Given the description of an element on the screen output the (x, y) to click on. 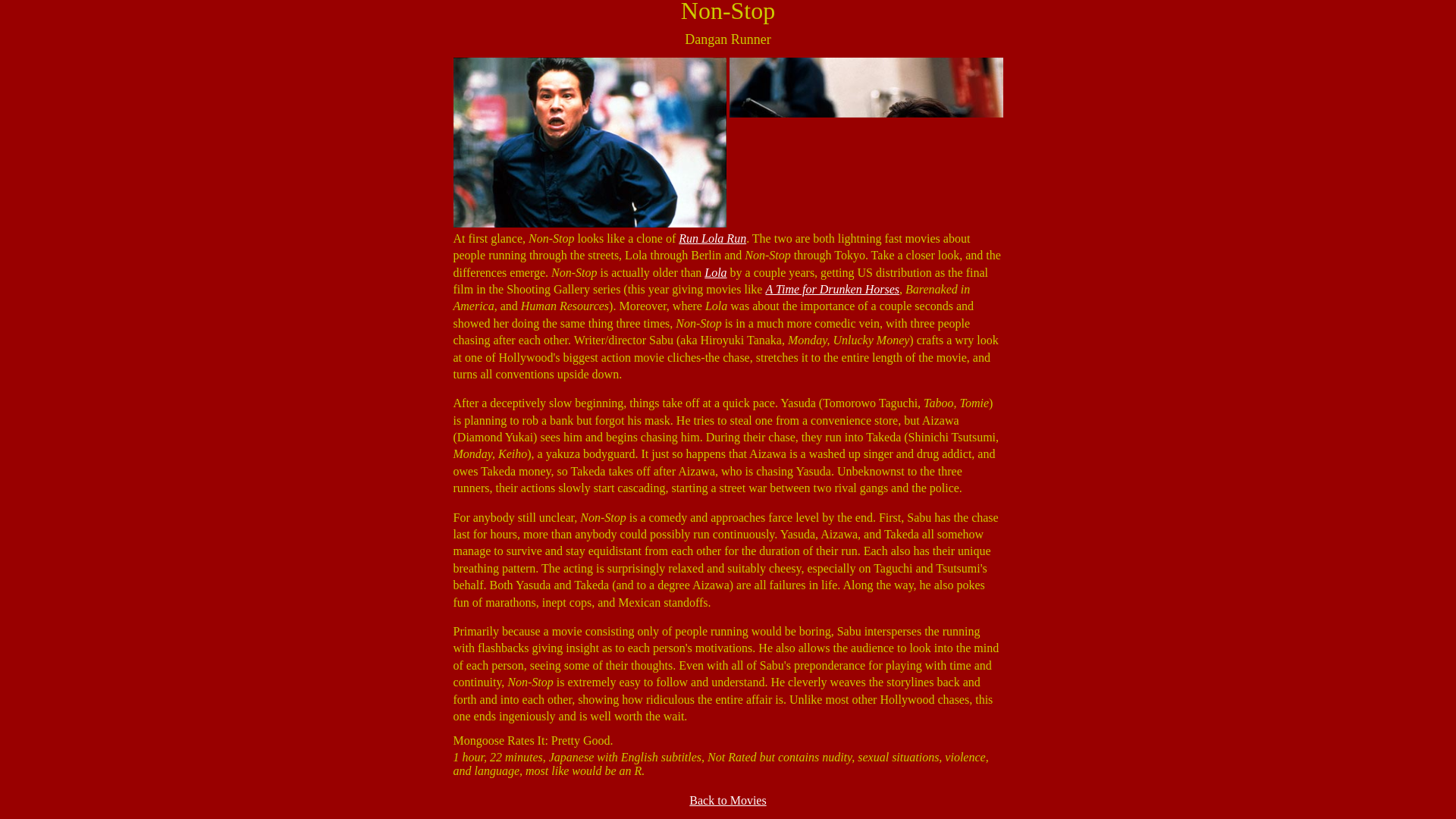
Lola (715, 272)
A Time for Drunken Horses (832, 288)
Back to Movies (726, 799)
Run Lola Run (711, 237)
